Given the description of an element on the screen output the (x, y) to click on. 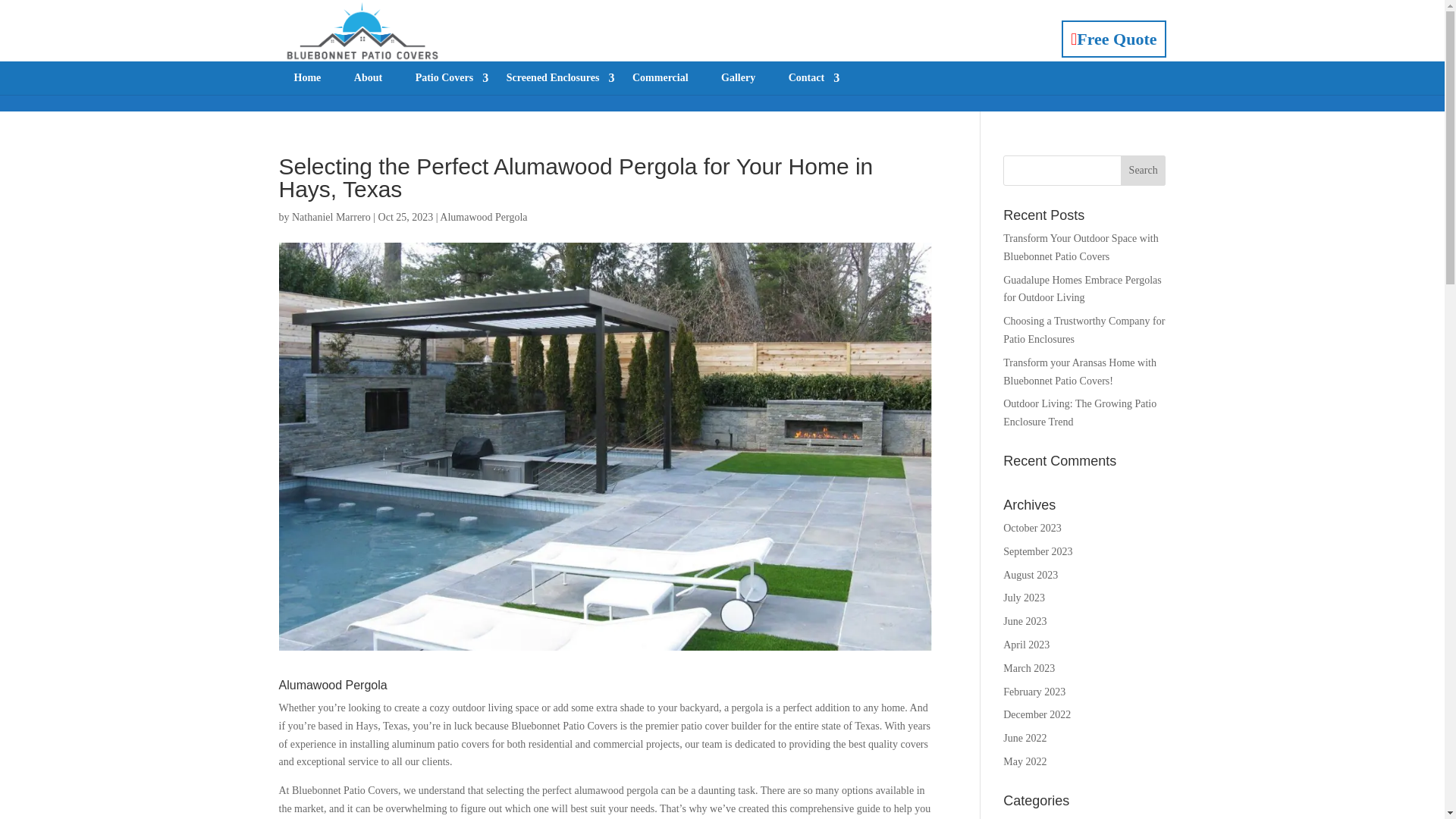
August 2023 (1030, 574)
Posts by Nathaniel Marrero (331, 216)
February 2023 (1034, 691)
Transform Your Outdoor Space with Bluebonnet Patio Covers (1080, 247)
June 2022 (1024, 737)
Commercial (660, 78)
April 2023 (1026, 644)
December 2022 (1036, 714)
June 2023 (1024, 621)
Alumawood Pergola (483, 216)
